Given the description of an element on the screen output the (x, y) to click on. 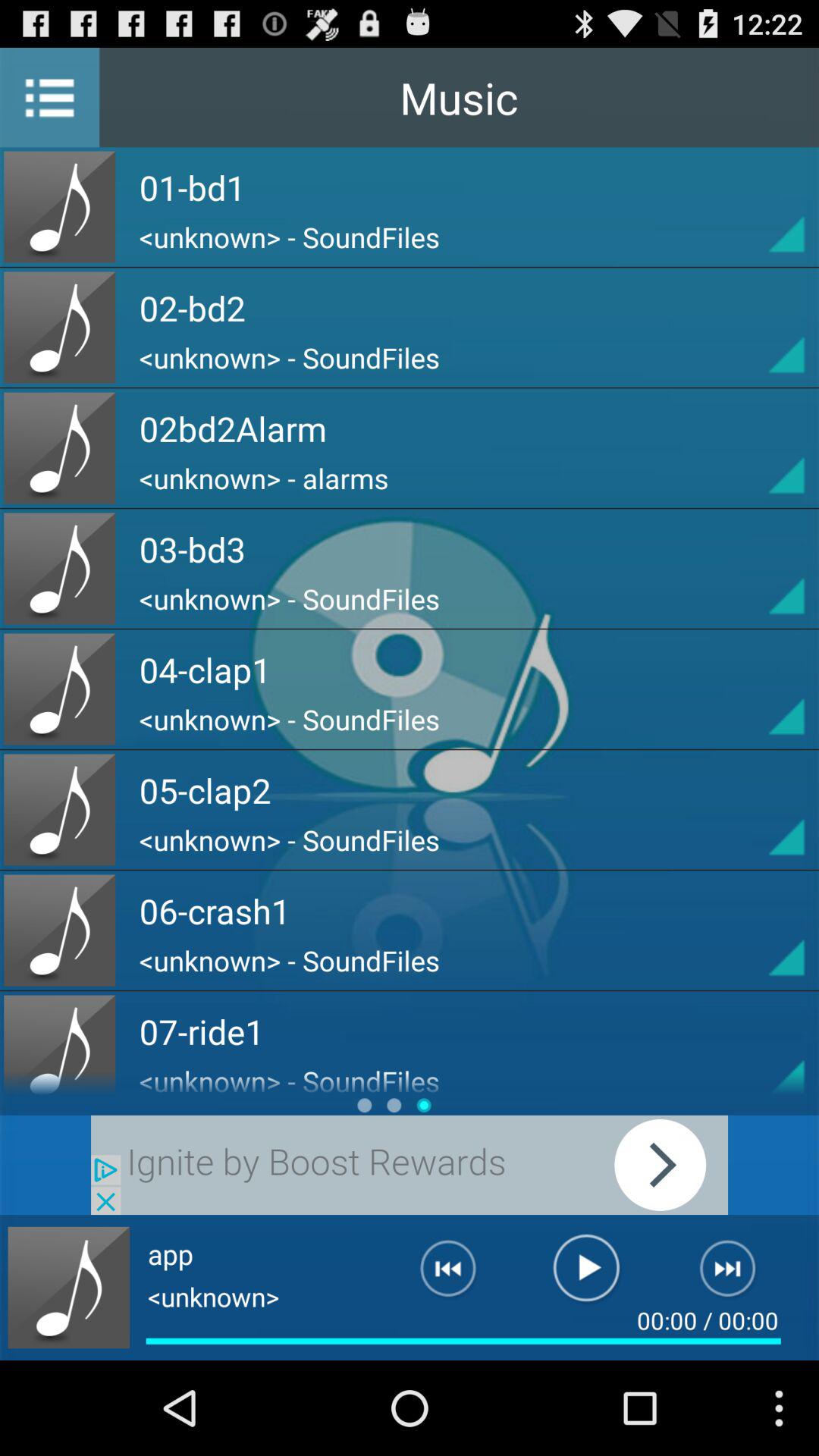
go to music (759, 689)
